Given the description of an element on the screen output the (x, y) to click on. 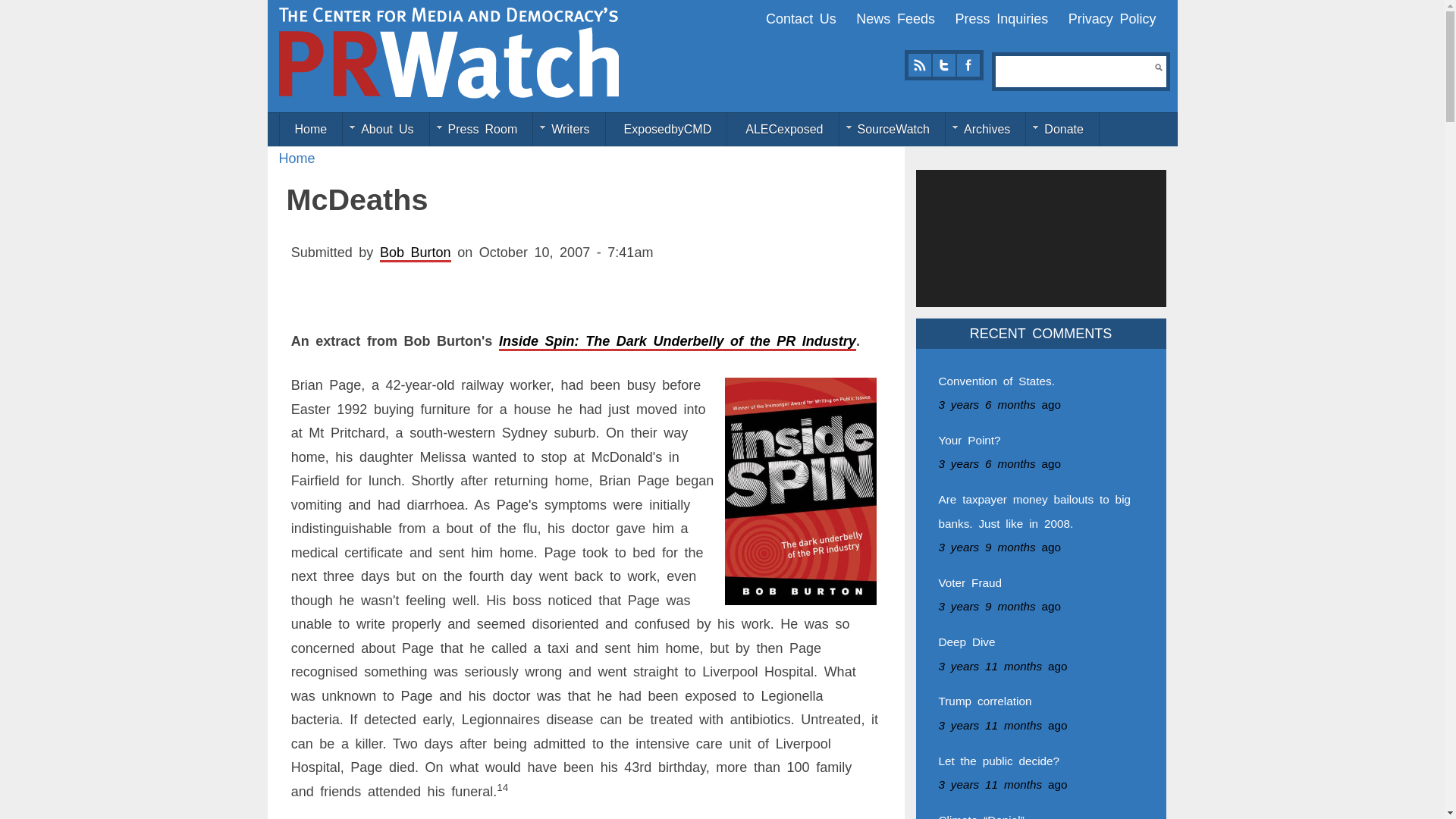
Home (297, 158)
Bob Burton (415, 252)
Inside Spin: The Dark Underbelly of the PR Industry (677, 340)
Subscribe to CMD's RSS Feeds (919, 64)
Search (1157, 67)
Search (1157, 67)
Twitter (943, 64)
Follow CMD's Posts on Twitter (943, 64)
News Feeds (895, 18)
View user profile. (415, 252)
Privacy Policy (1112, 18)
Join CMD's Facebook Page (967, 64)
Home (448, 52)
Press Inquiries (1001, 18)
Contact Us (800, 18)
